Given the description of an element on the screen output the (x, y) to click on. 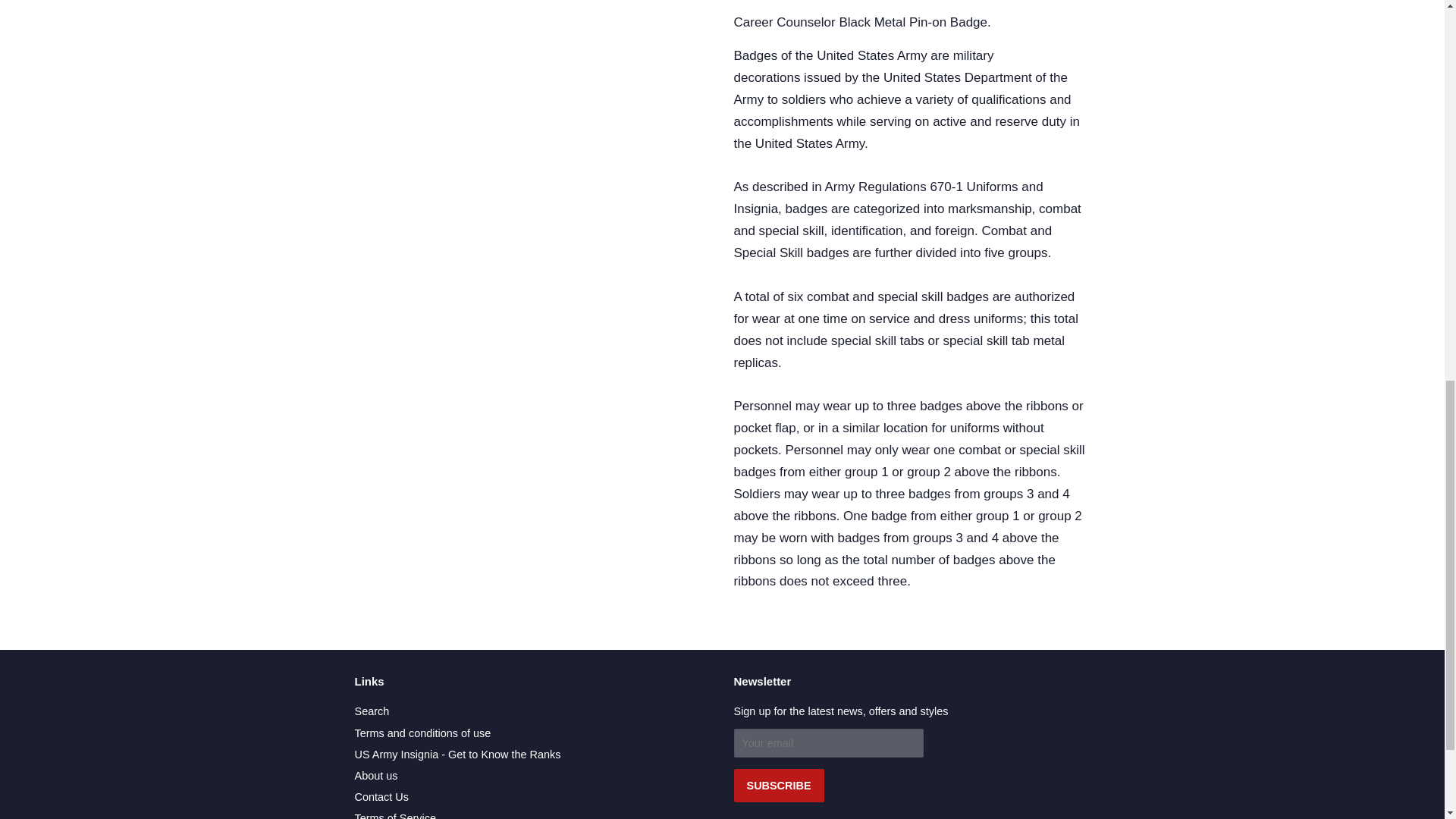
Subscribe (778, 785)
